Given the description of an element on the screen output the (x, y) to click on. 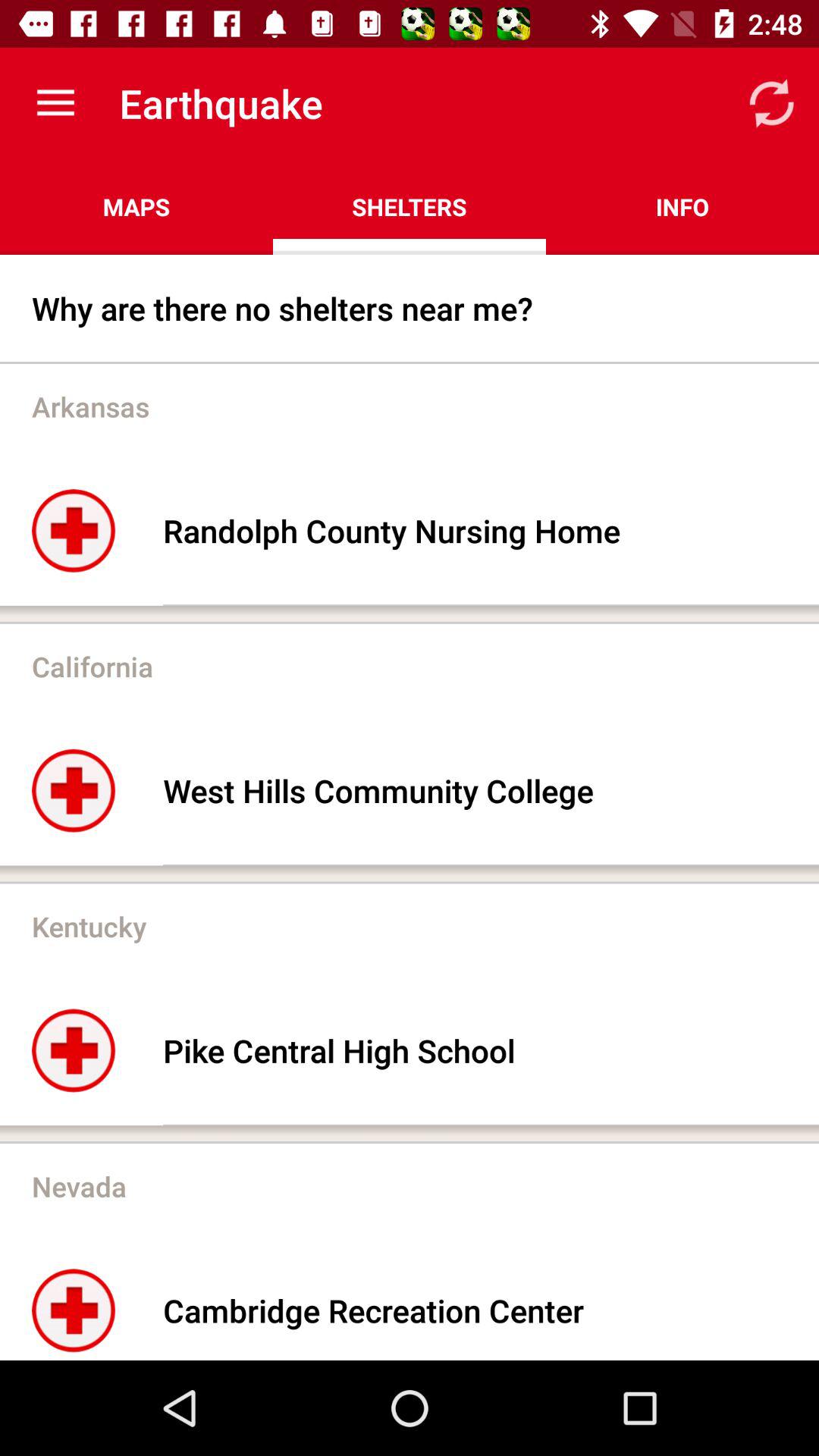
jump to the info item (682, 206)
